Given the description of an element on the screen output the (x, y) to click on. 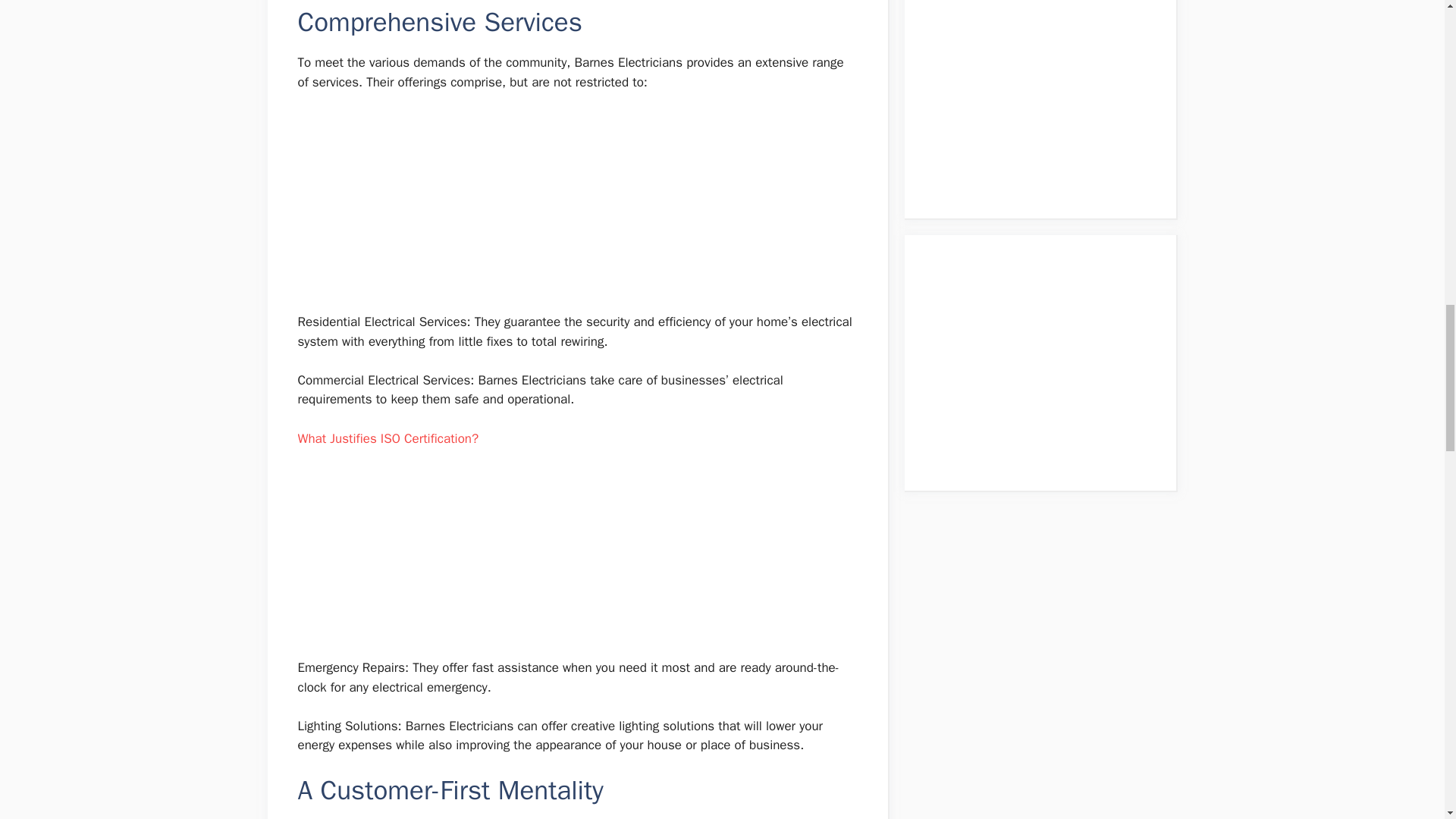
What Justifies ISO Certification? (388, 439)
